Given the description of an element on the screen output the (x, y) to click on. 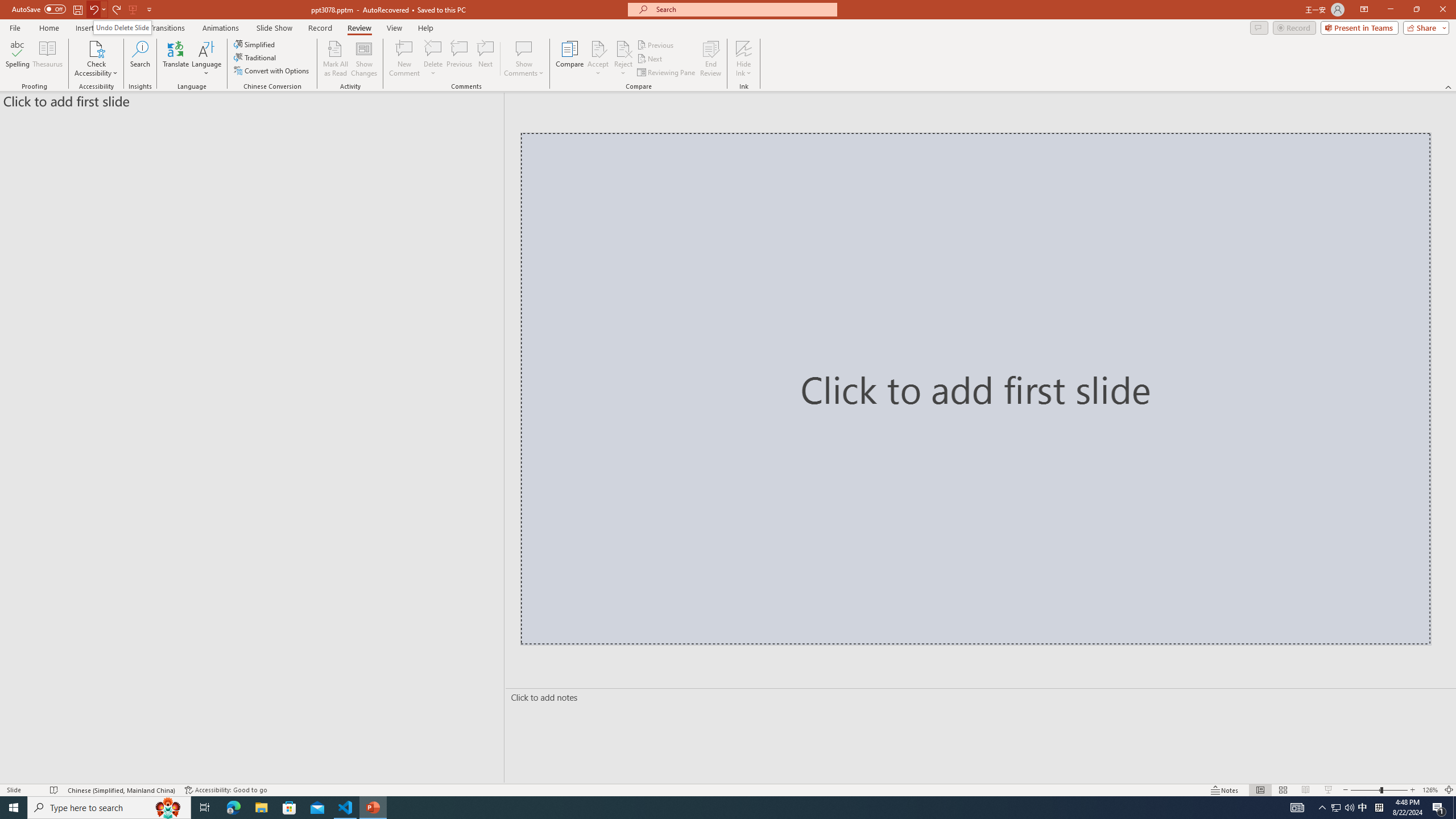
Accept (598, 58)
